Given the description of an element on the screen output the (x, y) to click on. 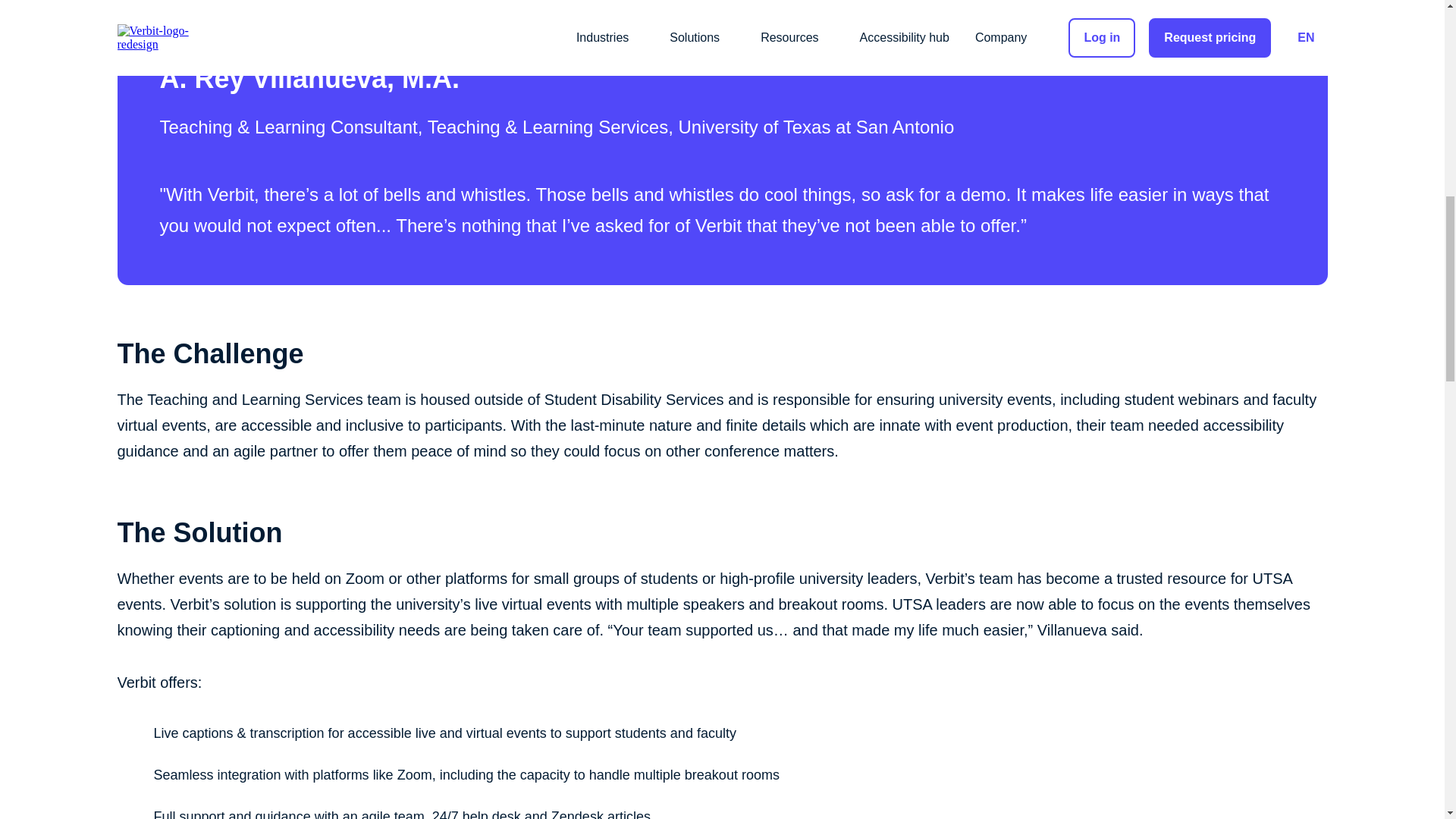
Page 1 (721, 425)
